Given the description of an element on the screen output the (x, y) to click on. 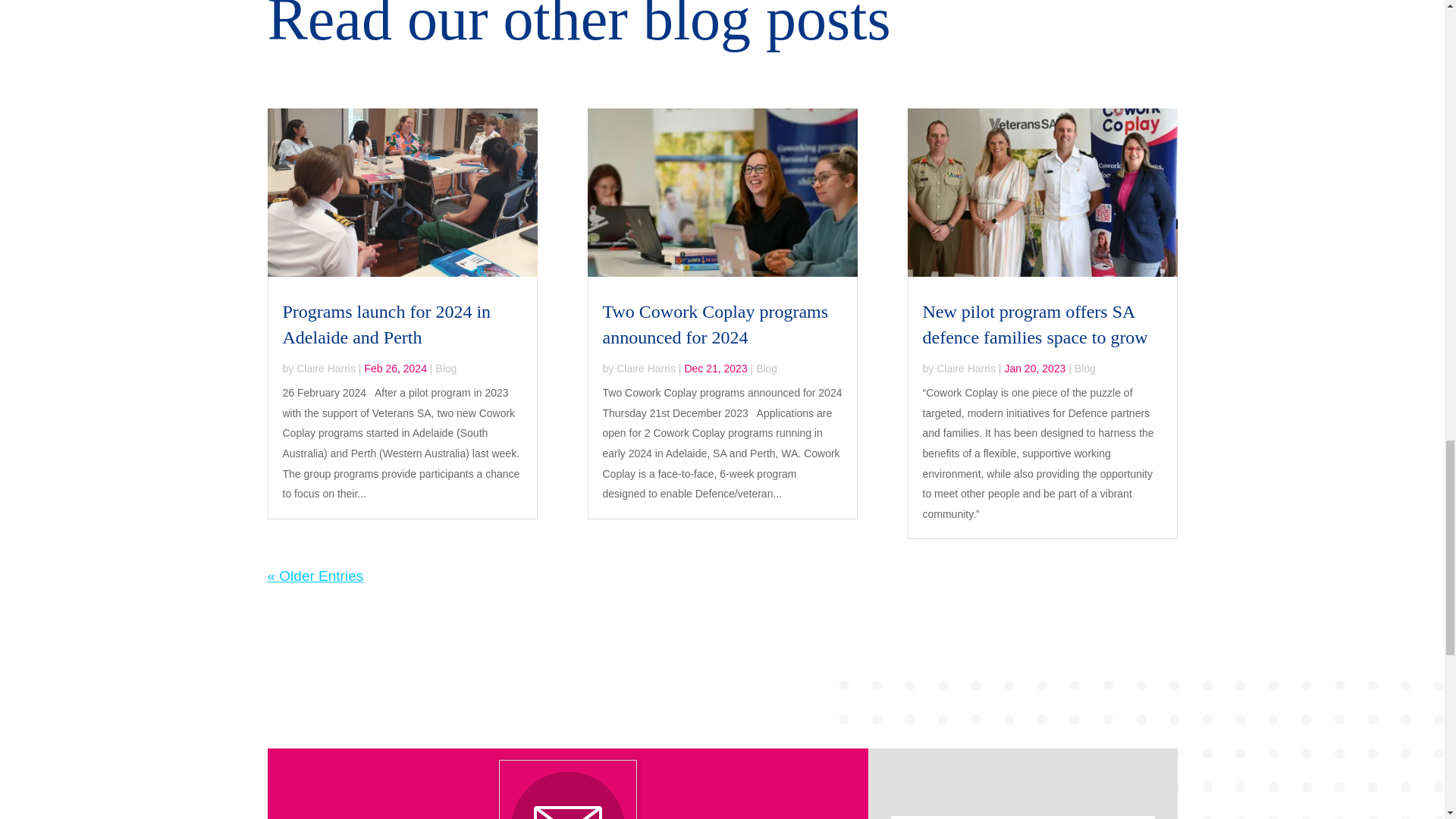
Claire Harris (965, 368)
Blog (446, 368)
Blog (766, 368)
Posts by Claire Harris (965, 368)
Claire Harris (326, 368)
New pilot program offers SA defence families space to grow (1034, 324)
Claire Harris (645, 368)
Blog (1085, 368)
Posts by Claire Harris (326, 368)
Programs launch for 2024 in Adelaide and Perth (386, 324)
Two Cowork Coplay programs announced for 2024 (715, 324)
Posts by Claire Harris (645, 368)
